Given the description of an element on the screen output the (x, y) to click on. 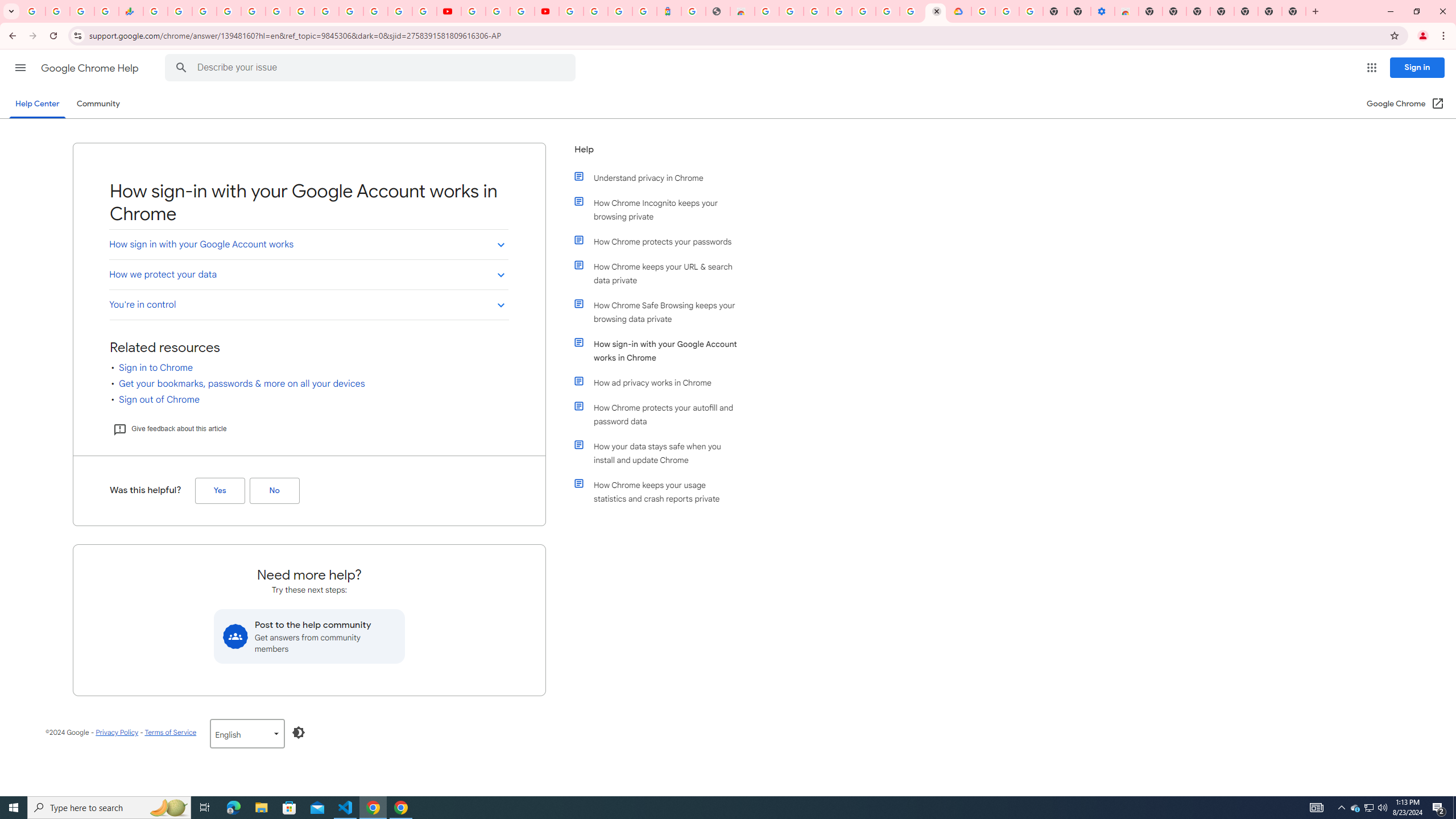
YouTube (472, 11)
Enable Dark Mode (299, 732)
Chrome Web Store - Accessibility extensions (1126, 11)
How your data stays safe when you install and update Chrome (661, 453)
New Tab (1293, 11)
Create your Google Account (522, 11)
Privacy Checkup (424, 11)
How sign-in with your Google Account works in Chrome (661, 350)
Give feedback about this article (169, 428)
Settings - Accessibility (1102, 11)
Create your Google Account (910, 11)
